Given the description of an element on the screen output the (x, y) to click on. 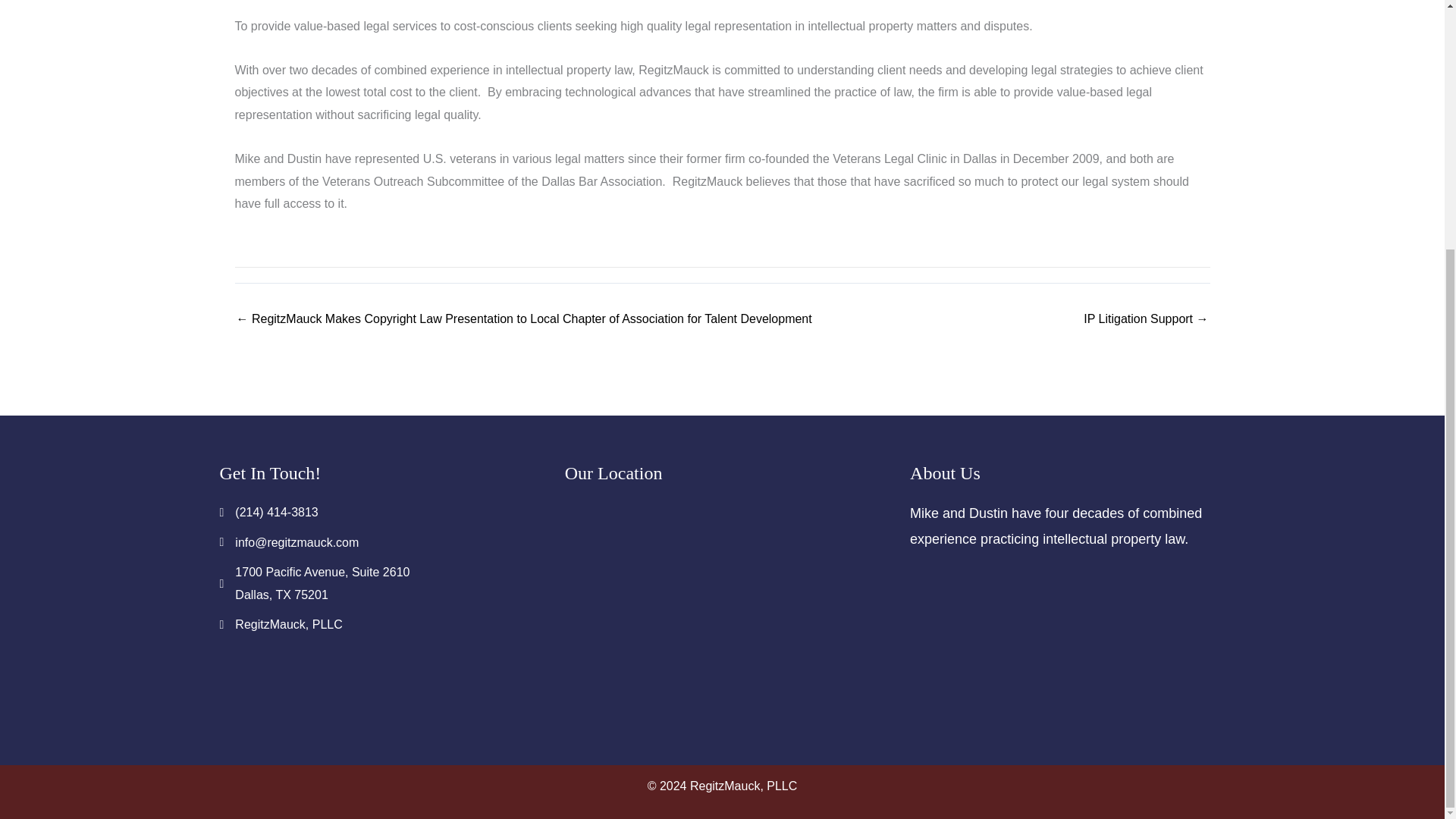
RegitzMauck, PLLC (288, 624)
